Given the description of an element on the screen output the (x, y) to click on. 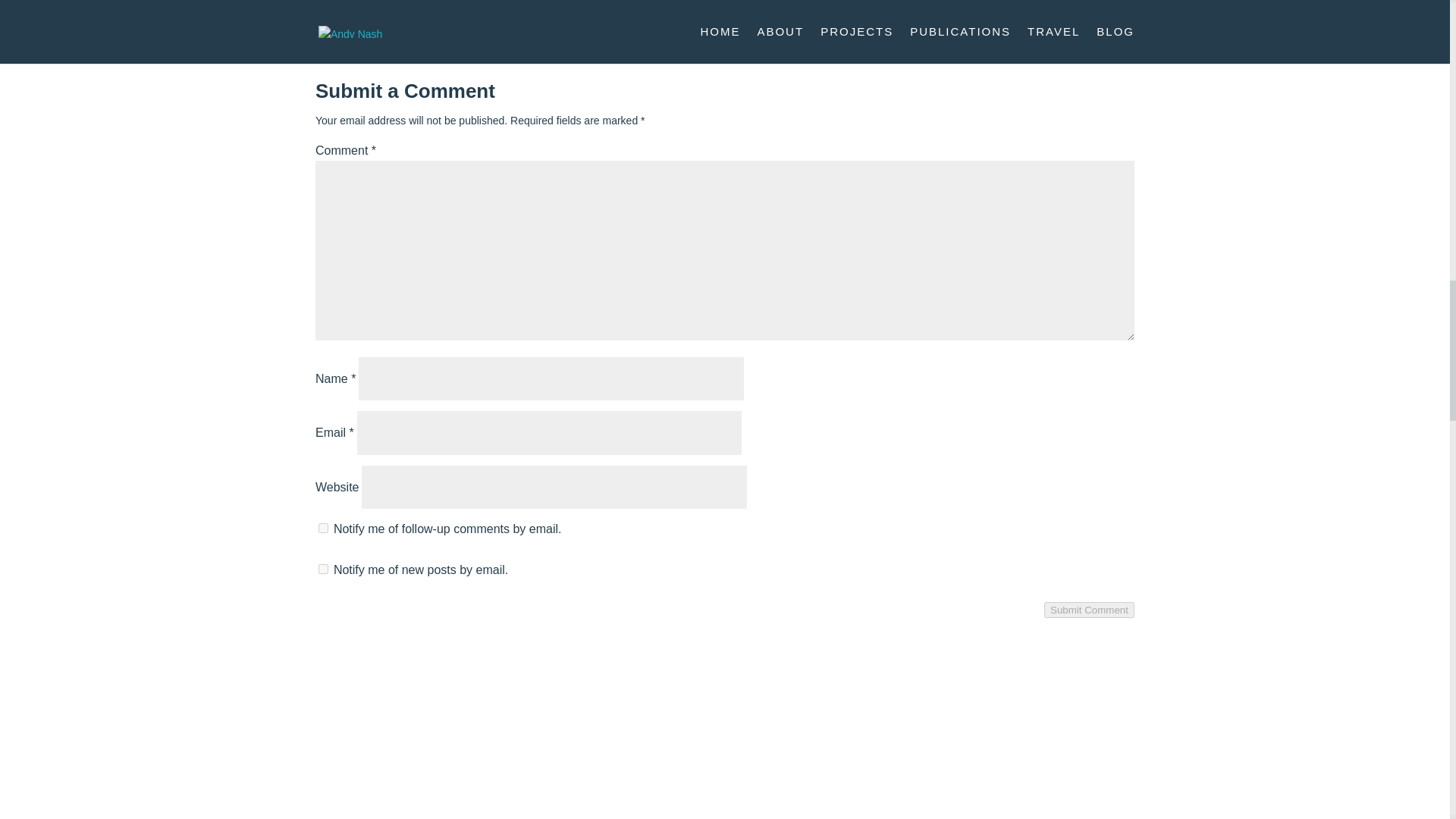
Submit Comment (1088, 609)
subscribe (323, 569)
subscribe (323, 528)
